Given the description of an element on the screen output the (x, y) to click on. 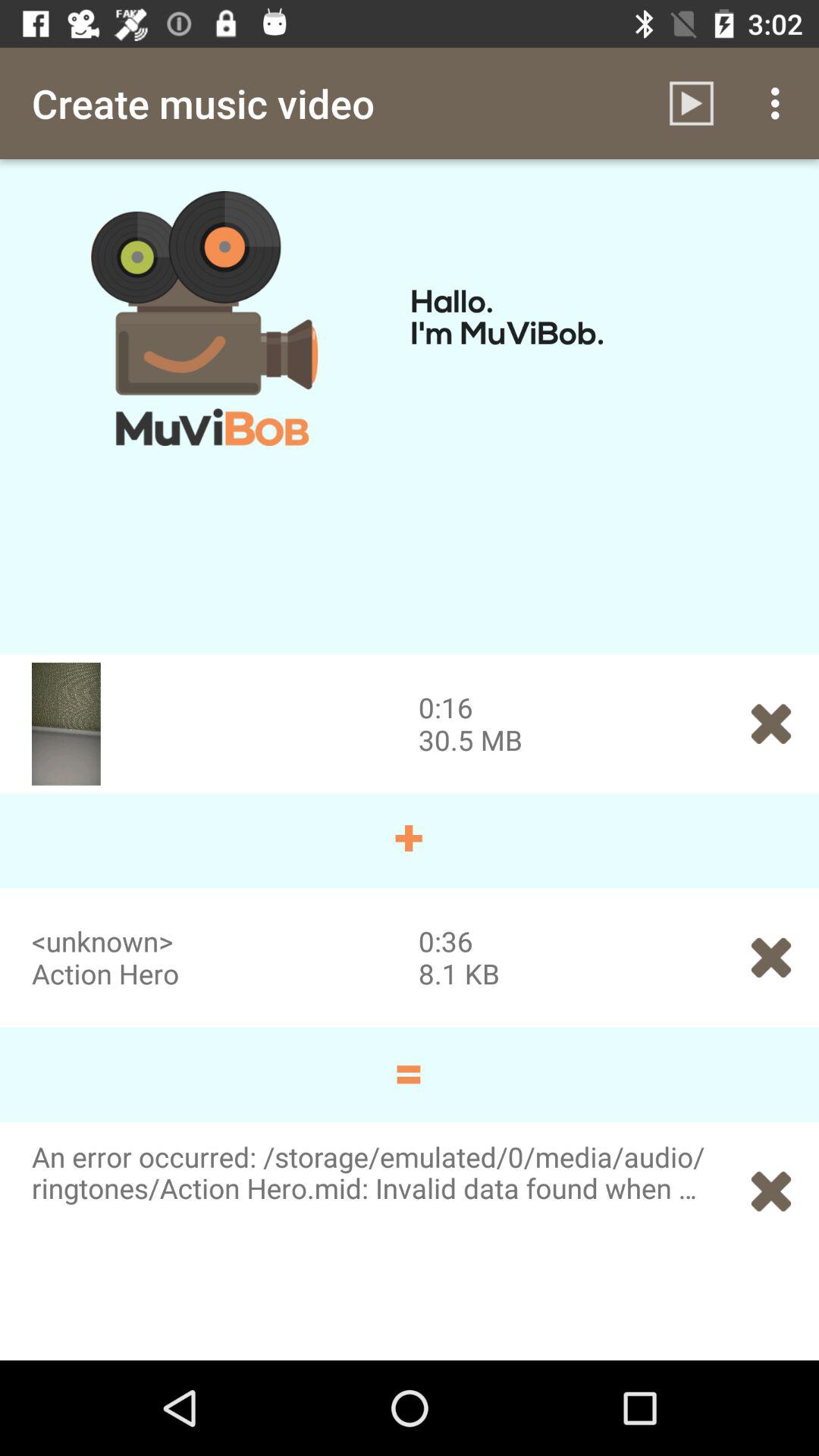
press the item to the right of the create music video (691, 103)
